Given the description of an element on the screen output the (x, y) to click on. 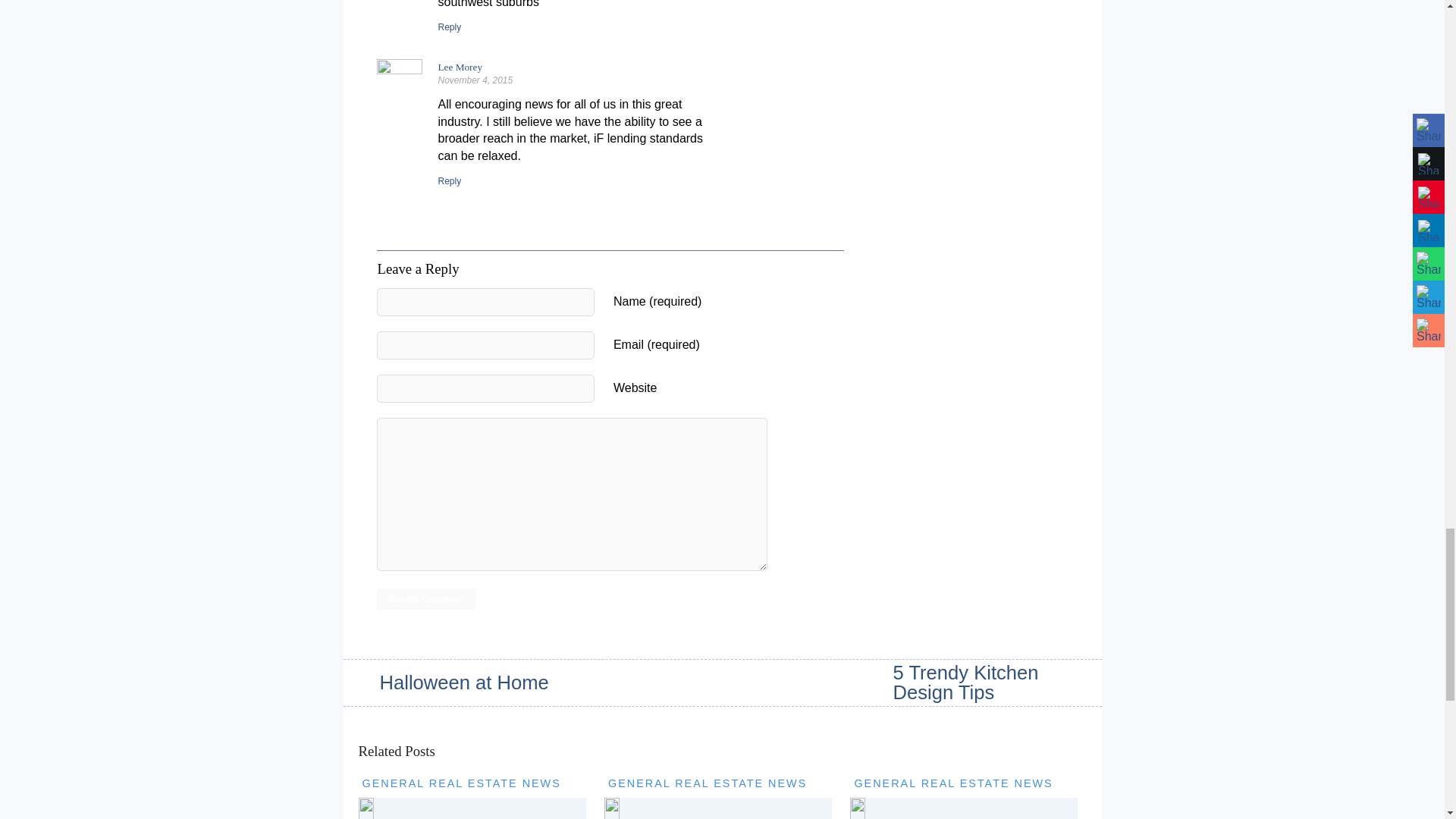
5 Trendy Kitchen Design Tips (997, 682)
Submit Comment (425, 598)
Reply (449, 181)
Lee Morey (459, 66)
Halloween at Home (446, 682)
Halloween at Home (446, 682)
5 Trendy Kitchen Design Tips (997, 682)
Reply (449, 27)
GENERAL REAL ESTATE NEWS (461, 783)
Submit Comment (425, 598)
